Given the description of an element on the screen output the (x, y) to click on. 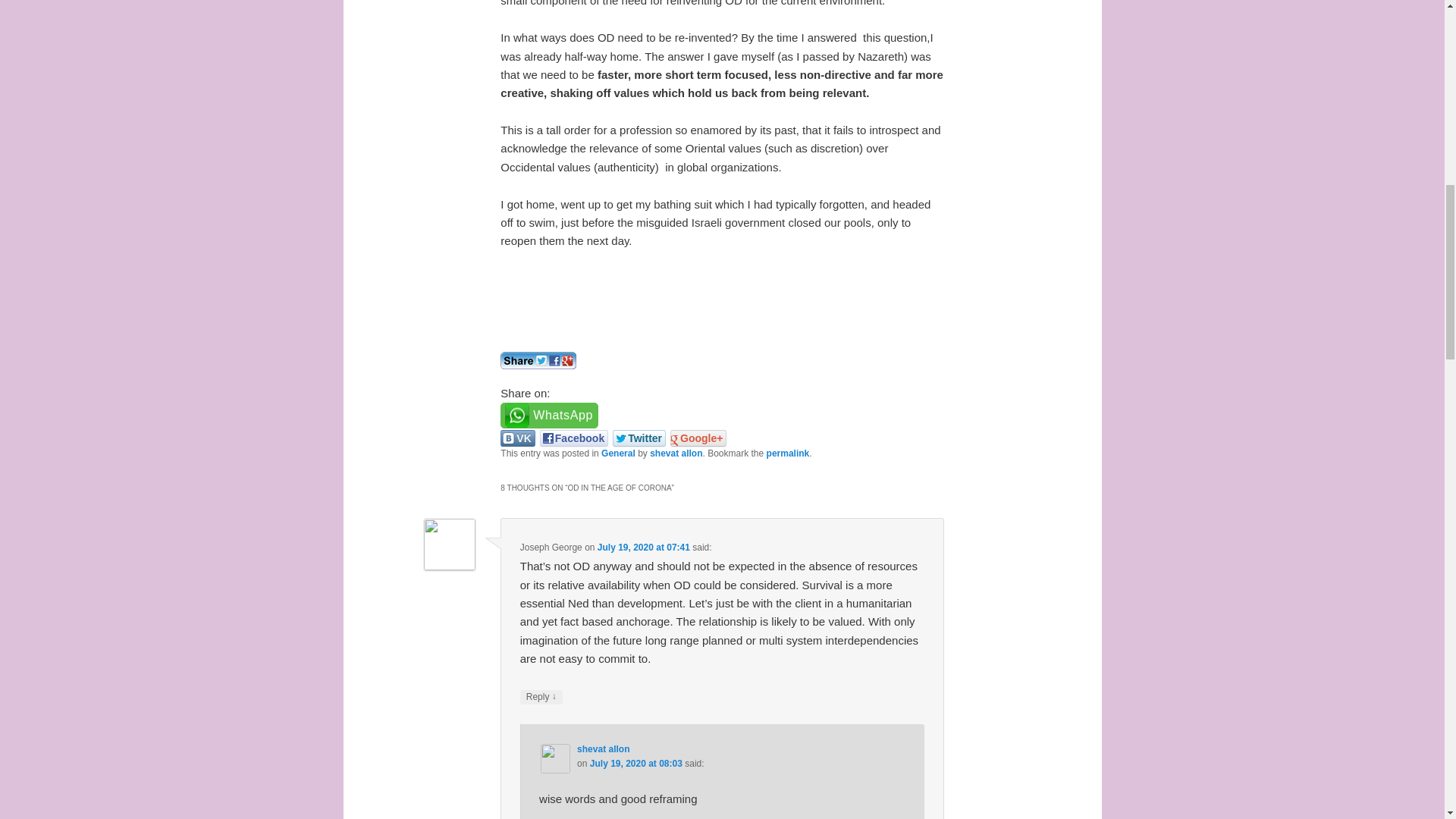
Share link on Twitter (638, 437)
July 19, 2020 at 07:41 (643, 547)
shevat allon (602, 748)
permalink (788, 452)
Share link on VK (517, 437)
Permalink to OD in the age of Corona (788, 452)
Share link on Facebook (574, 437)
General (617, 452)
shevat allon (675, 452)
WhatsApp (549, 414)
